Given the description of an element on the screen output the (x, y) to click on. 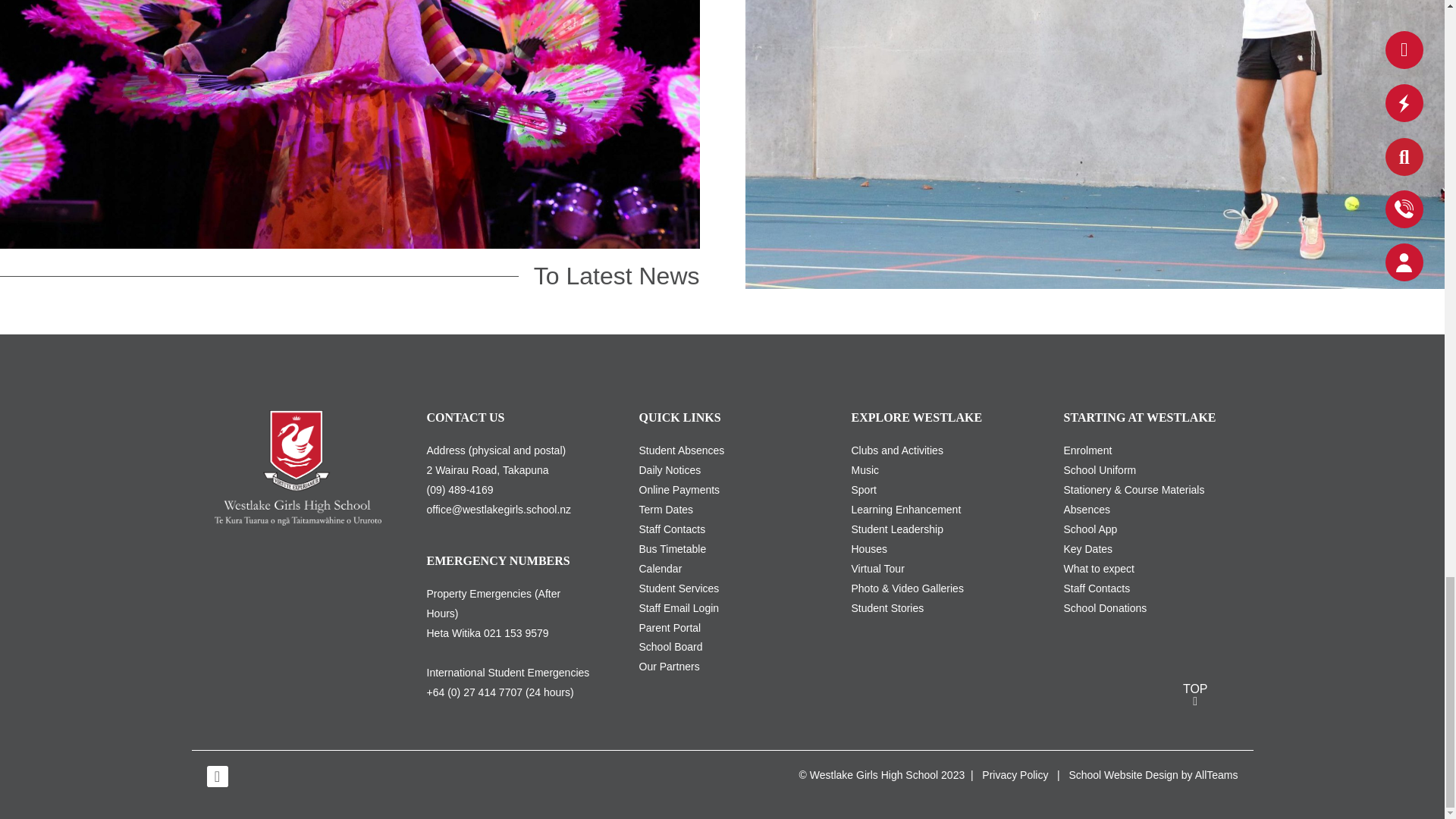
Student Services (679, 588)
Calendar (660, 568)
Website Design, AllTeams (1217, 775)
Student Stories (886, 607)
Staff Contacts (671, 529)
Learning Enhancement (905, 509)
Music (864, 469)
To Latest News (609, 275)
Bus Timetable (672, 548)
Auckland NZ Website Design, School Website Designers (1122, 775)
